Given the description of an element on the screen output the (x, y) to click on. 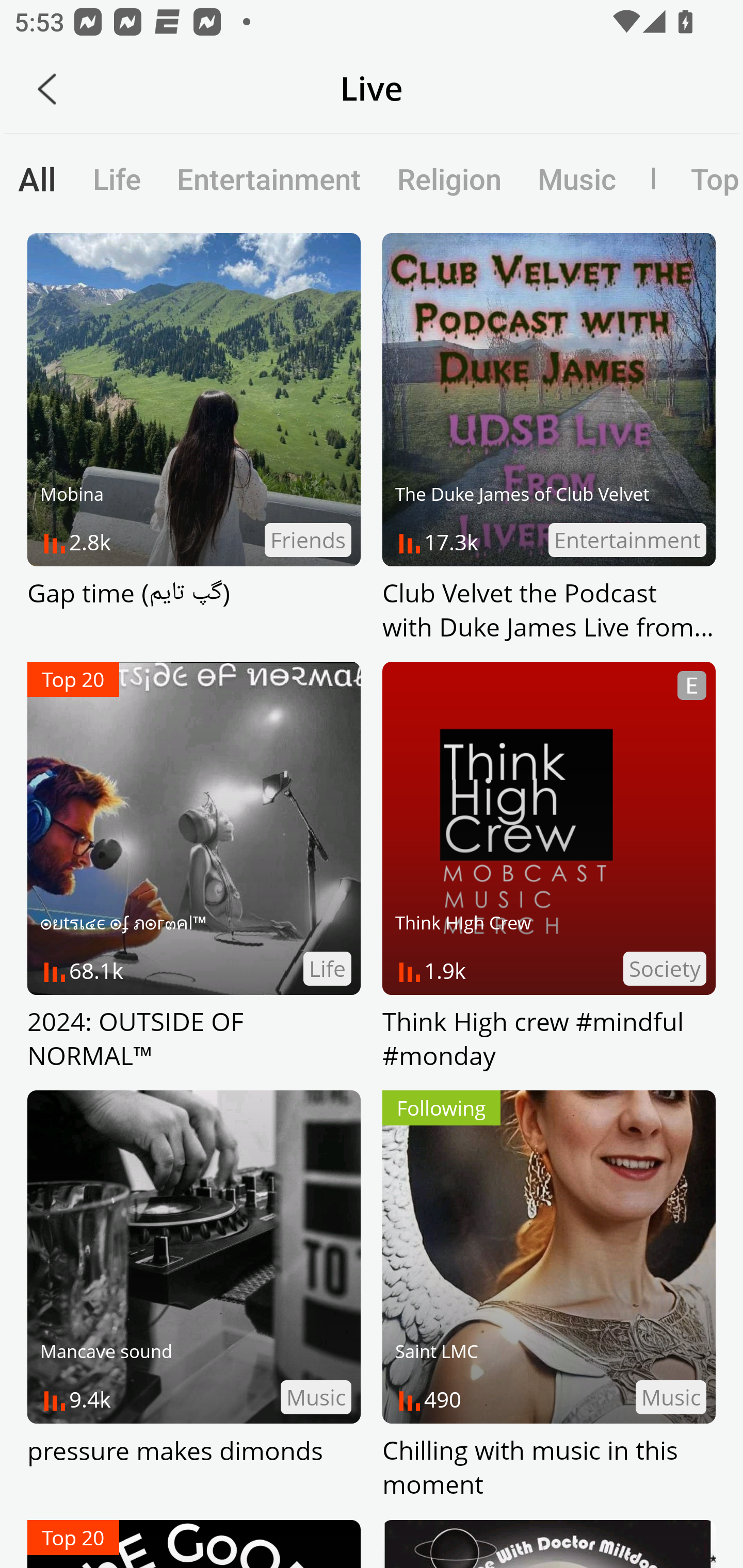
Back (46, 88)
Life (116, 178)
Entertainment (268, 178)
Religion (448, 178)
Music (576, 178)
Mobina 2.8k Friends Gap time (گپ تایم) (193, 438)
Mancave sound 9.4k Music pressure makes dimonds (193, 1295)
